Given the description of an element on the screen output the (x, y) to click on. 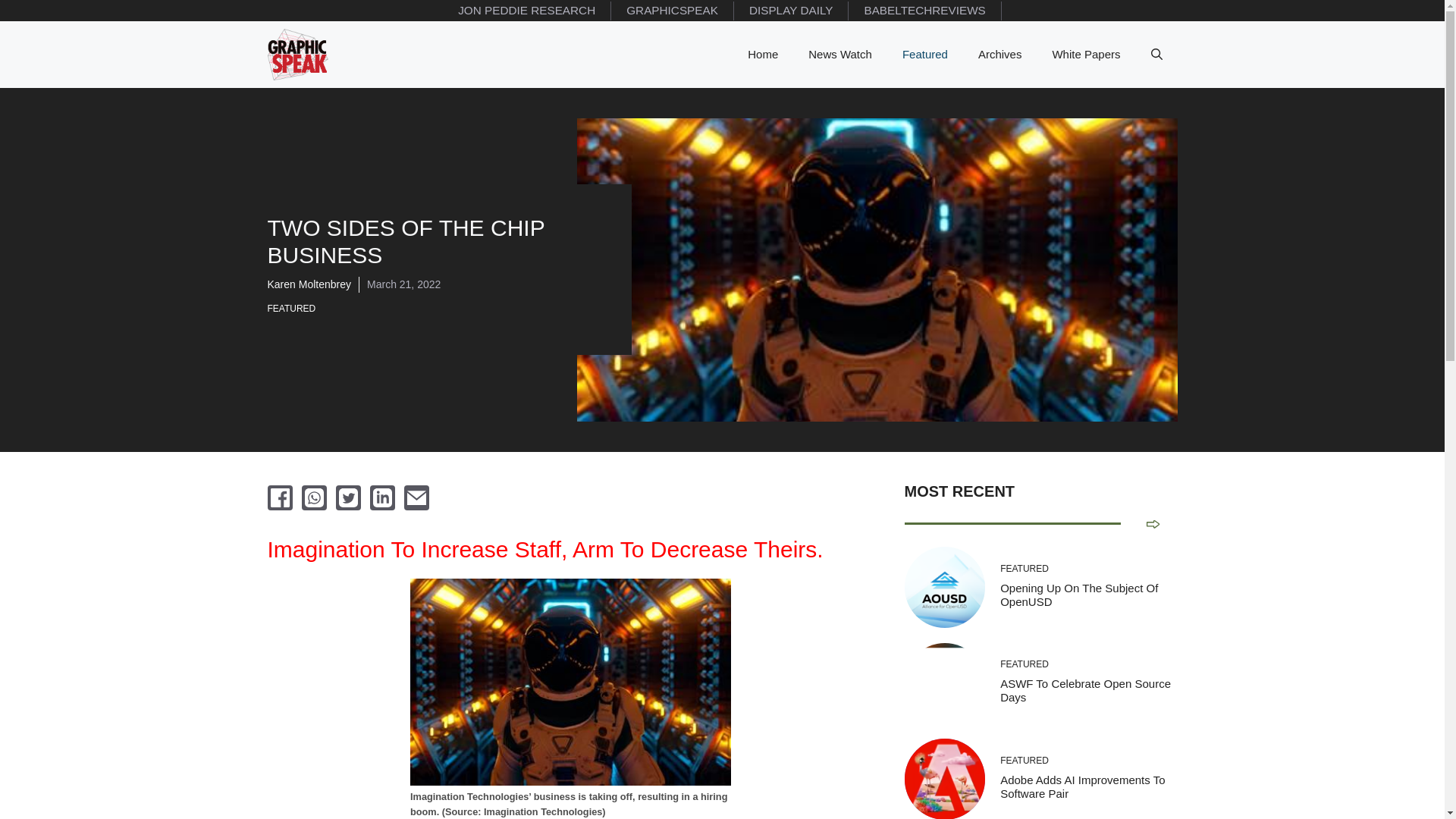
Home (762, 54)
DISPLAY DAILY (790, 10)
News Watch (839, 54)
Featured (924, 54)
Karen Moltenbrey (308, 284)
JON PEDDIE RESEARCH (526, 10)
FEATURED (294, 308)
Archives (999, 54)
GRAPHICSPEAK (672, 10)
White Papers (1085, 54)
